Given the description of an element on the screen output the (x, y) to click on. 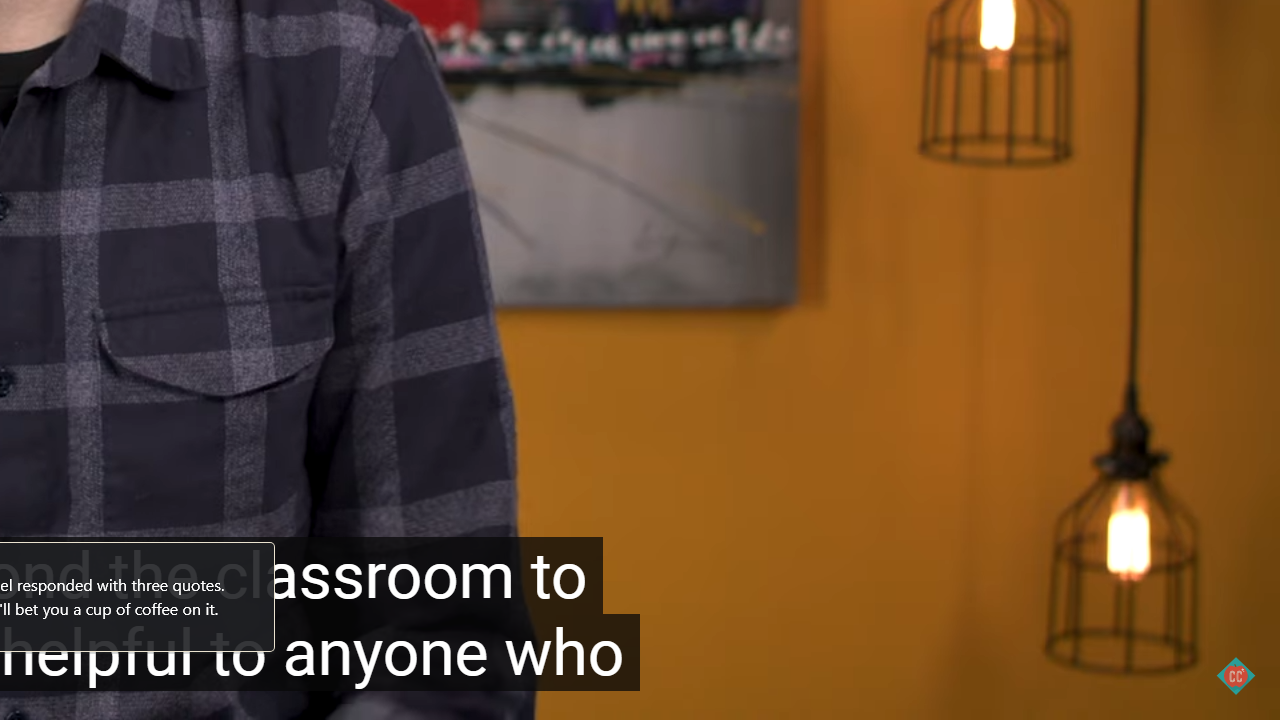
Channel watermark (1235, 675)
Full screen keyboard shortcut f (1228, 693)
Subtitles/closed captions unavailable (1121, 693)
Channel watermark (1235, 675)
